Given the description of an element on the screen output the (x, y) to click on. 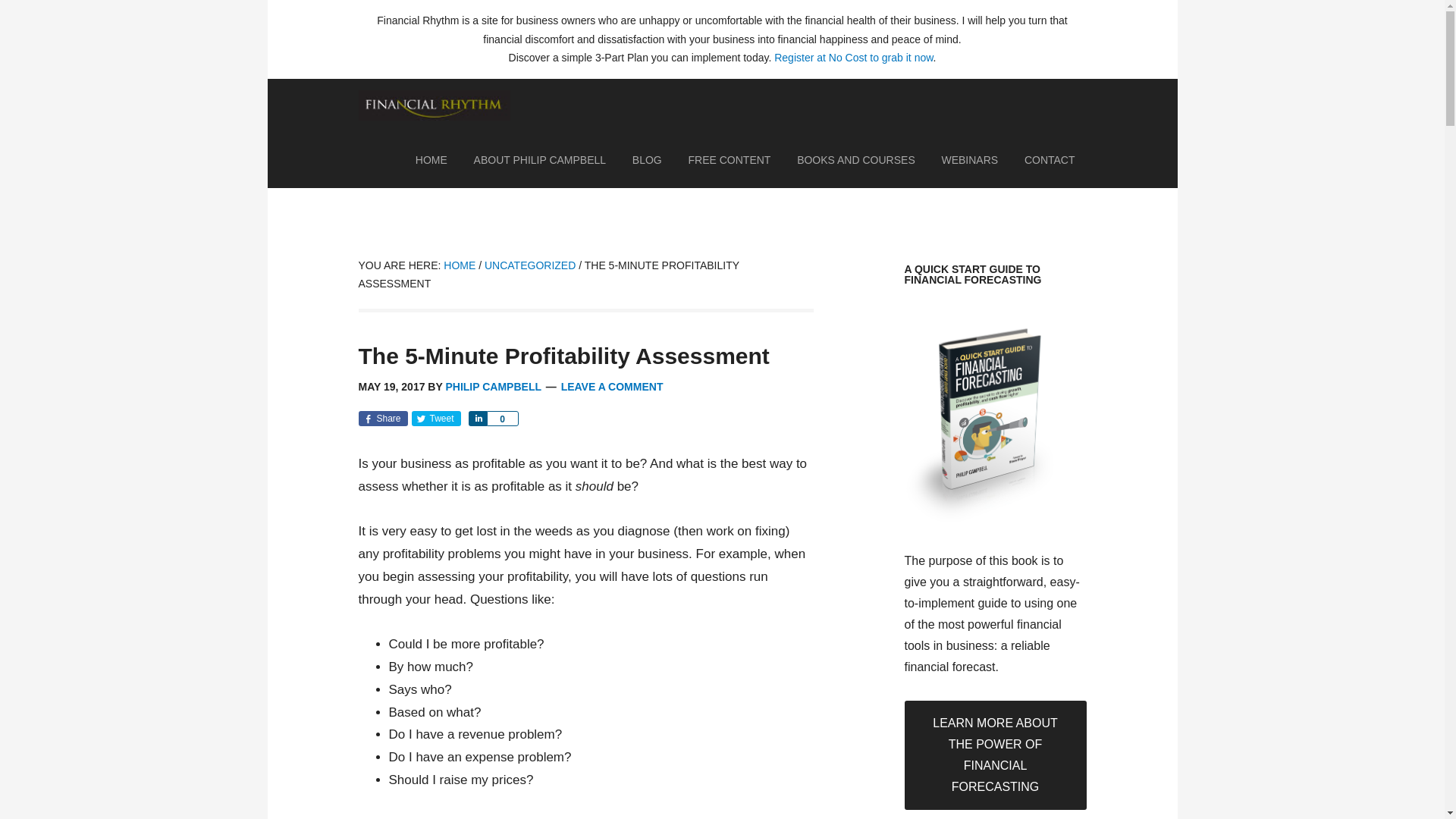
FREE CONTENT (729, 159)
LEAVE A COMMENT (611, 386)
WEBINARS (969, 159)
Tweet (435, 418)
Register at No Cost to grab it now (853, 57)
PHILIP CAMPBELL (492, 386)
HOME (460, 265)
FINANCIAL RHYTHM (433, 112)
BLOG (646, 159)
0 (502, 418)
